Given the description of an element on the screen output the (x, y) to click on. 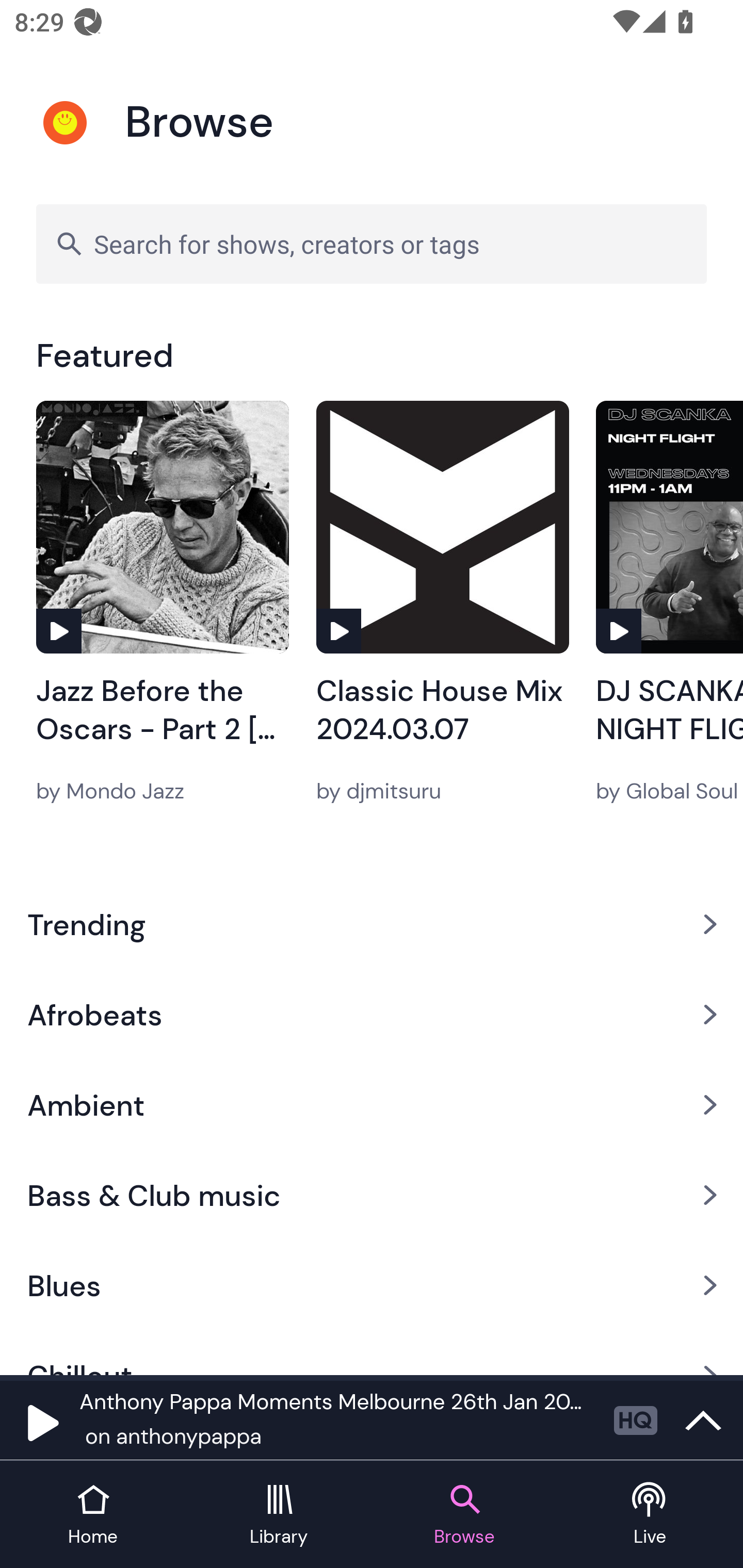
Search for shows, creators or tags (371, 243)
Trending (371, 924)
Afrobeats (371, 1014)
Ambient (371, 1104)
Bass & Club music (371, 1195)
Blues (371, 1285)
Home tab Home (92, 1515)
Library tab Library (278, 1515)
Browse tab Browse (464, 1515)
Live tab Live (650, 1515)
